Given the description of an element on the screen output the (x, y) to click on. 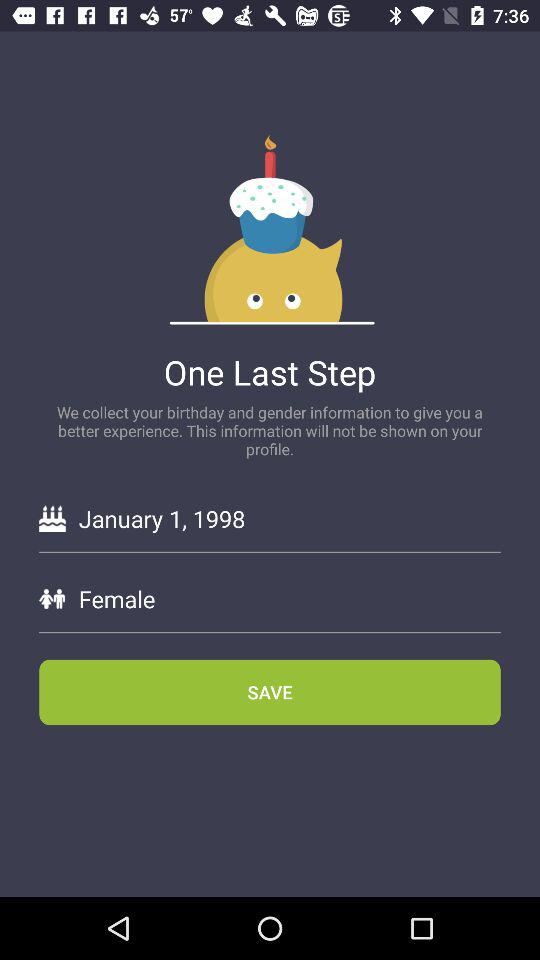
press january 1, 1998 icon (289, 518)
